Given the description of an element on the screen output the (x, y) to click on. 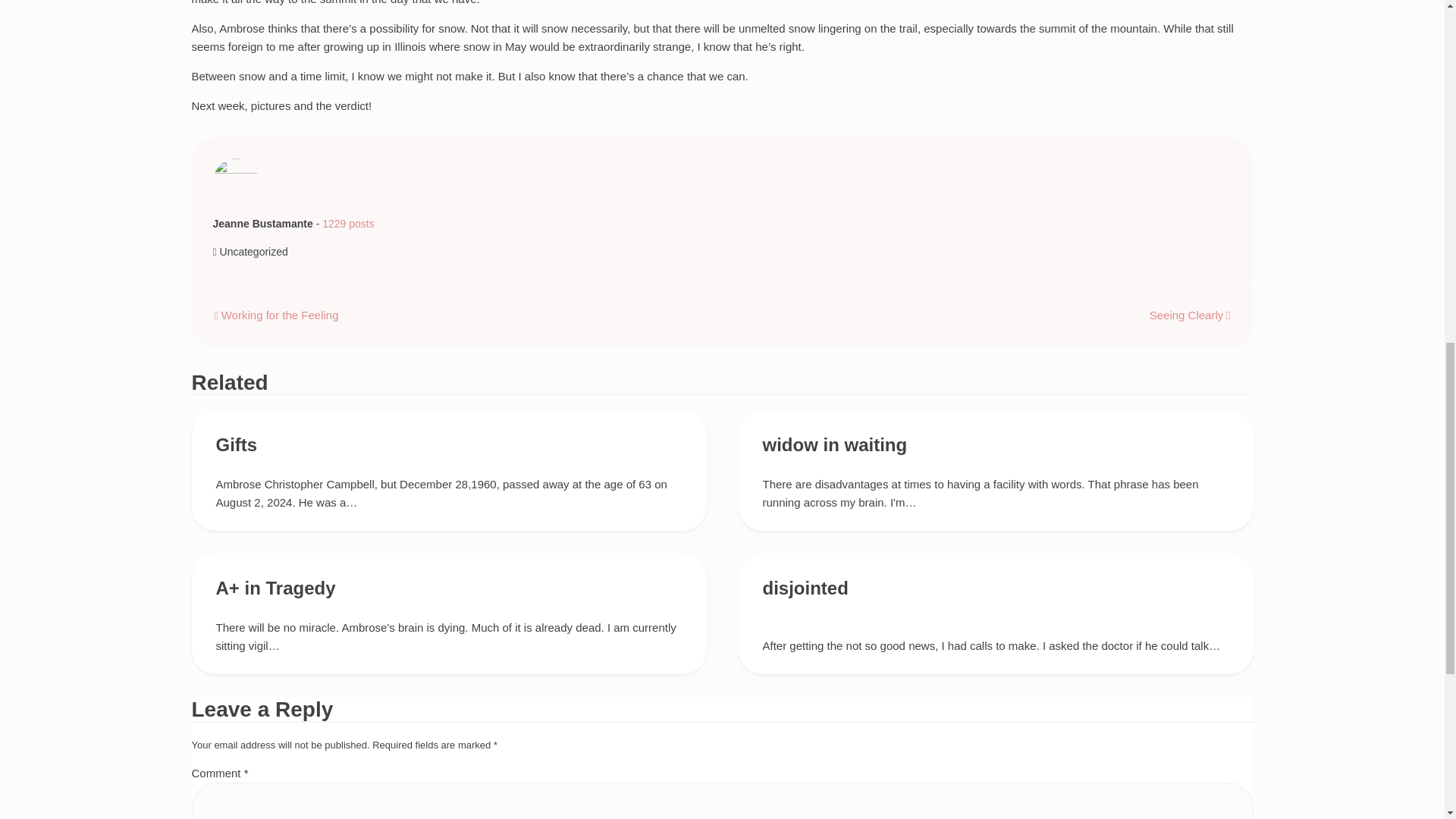
disjointed (805, 588)
1229 posts (347, 223)
widow in waiting (834, 444)
Gifts (236, 444)
Working for the Feeling (275, 314)
Seeing Clearly (1190, 314)
